Given the description of an element on the screen output the (x, y) to click on. 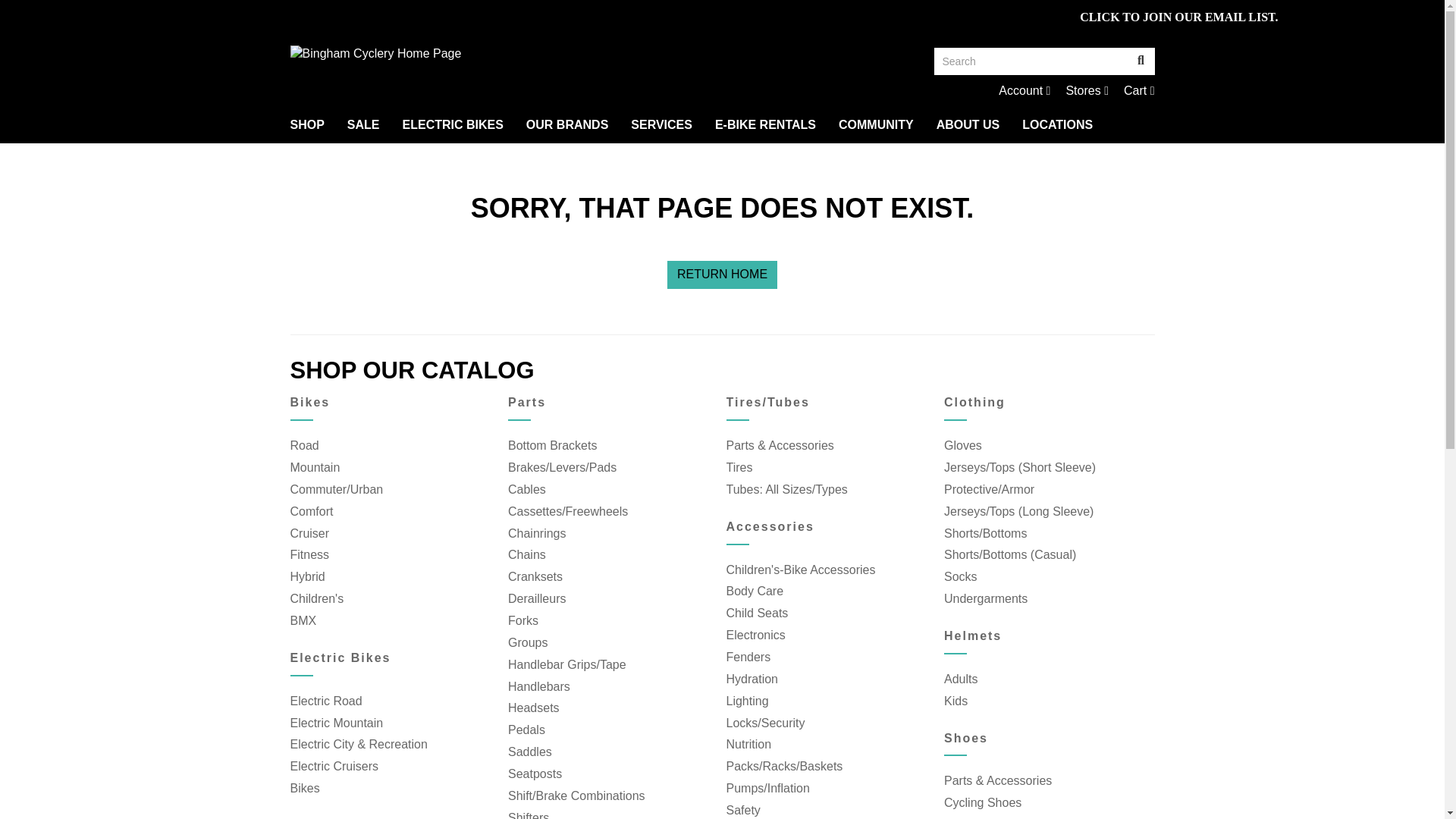
Stores (1086, 90)
CLICK TO JOIN OUR EMAIL LIST (1177, 16)
Search (1031, 61)
Bingham Cyclery Home Page (499, 54)
Return Home (1023, 90)
Cart (1086, 90)
Account (721, 275)
